Given the description of an element on the screen output the (x, y) to click on. 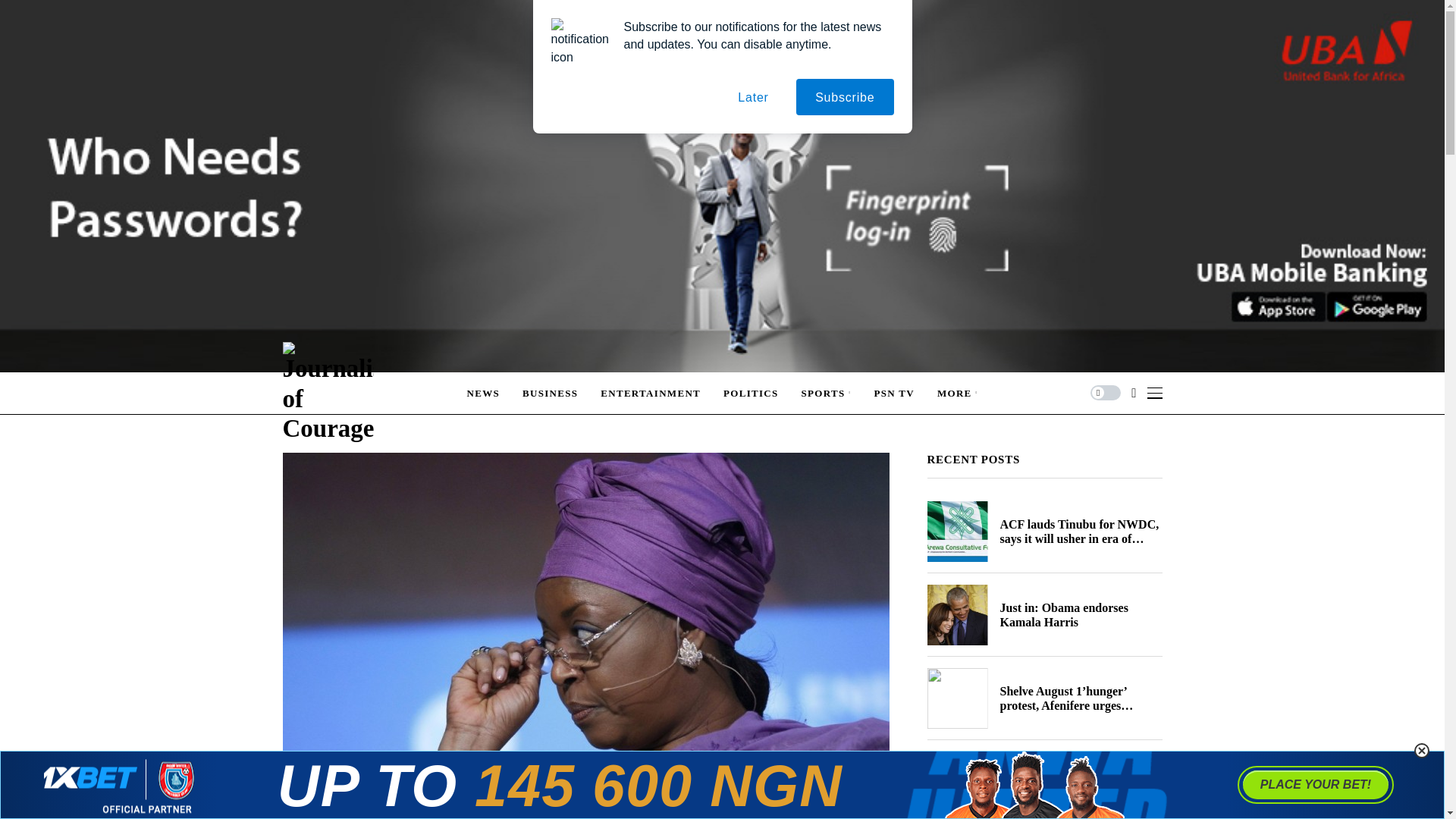
MORE (957, 393)
PSN TV (893, 393)
POLITICS (750, 393)
ENTERTAINMENT (649, 393)
SPORTS (826, 393)
BUSINESS (550, 393)
